Given the description of an element on the screen output the (x, y) to click on. 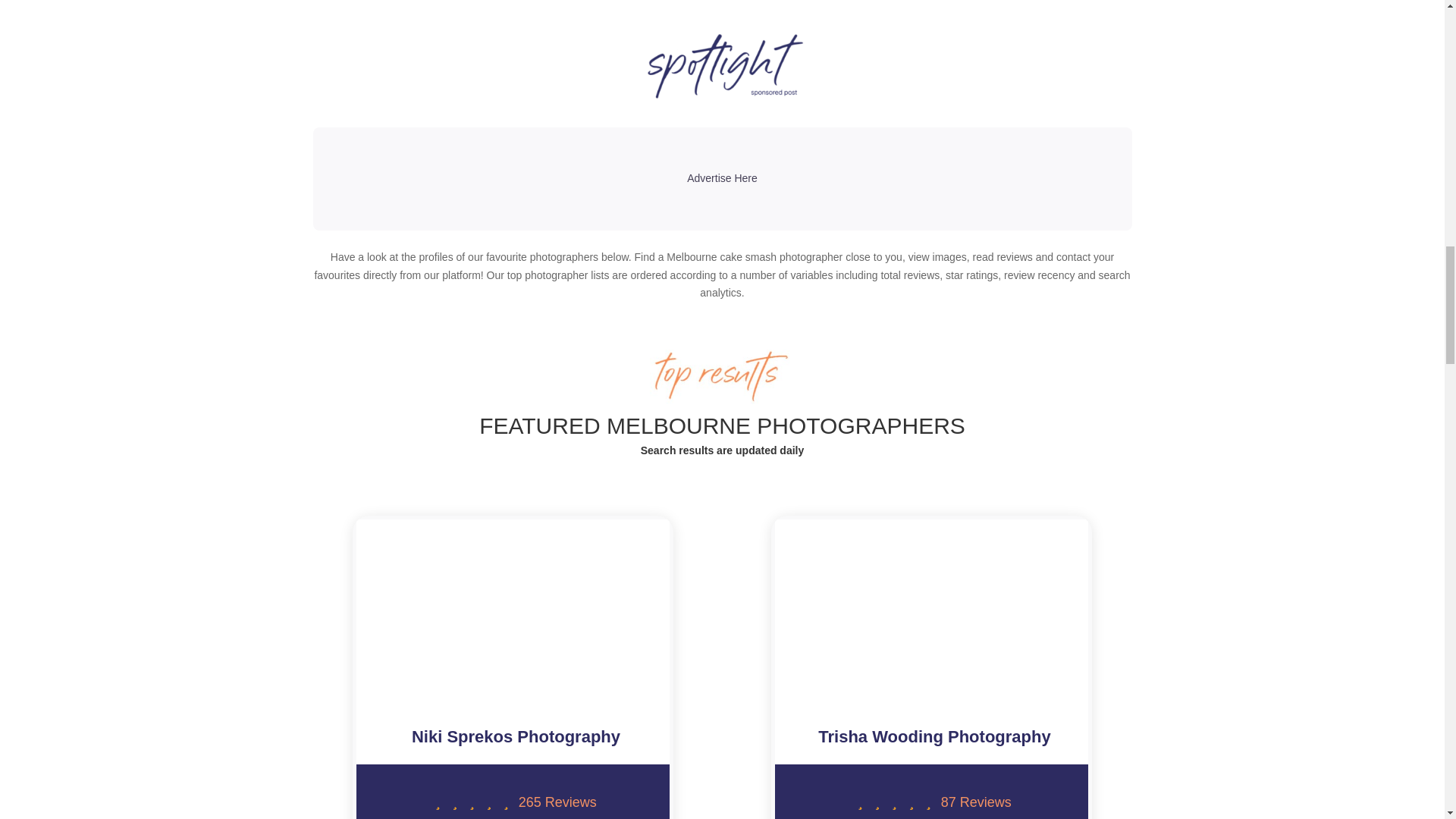
4 star rating (472, 802)
4 star rating (894, 802)
Advertise Here (722, 178)
